Given the description of an element on the screen output the (x, y) to click on. 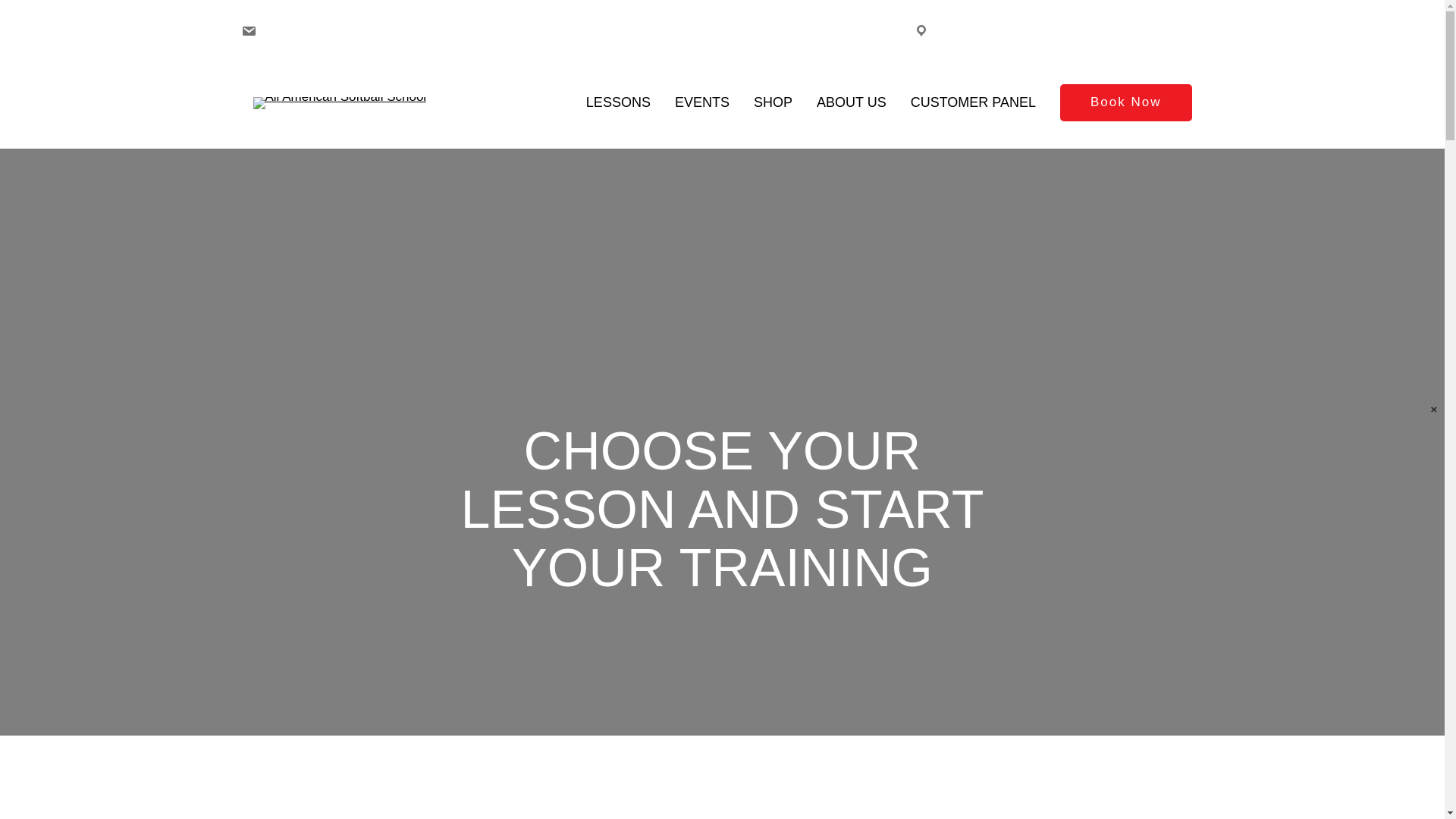
Book Now (1125, 102)
1270 Triangle Ct, West Sacramento (1101, 34)
SHOP (773, 102)
LESSONS (618, 102)
EVENTS (702, 102)
CUSTOMER PANEL (973, 102)
ABOUT US (851, 102)
